Given the description of an element on the screen output the (x, y) to click on. 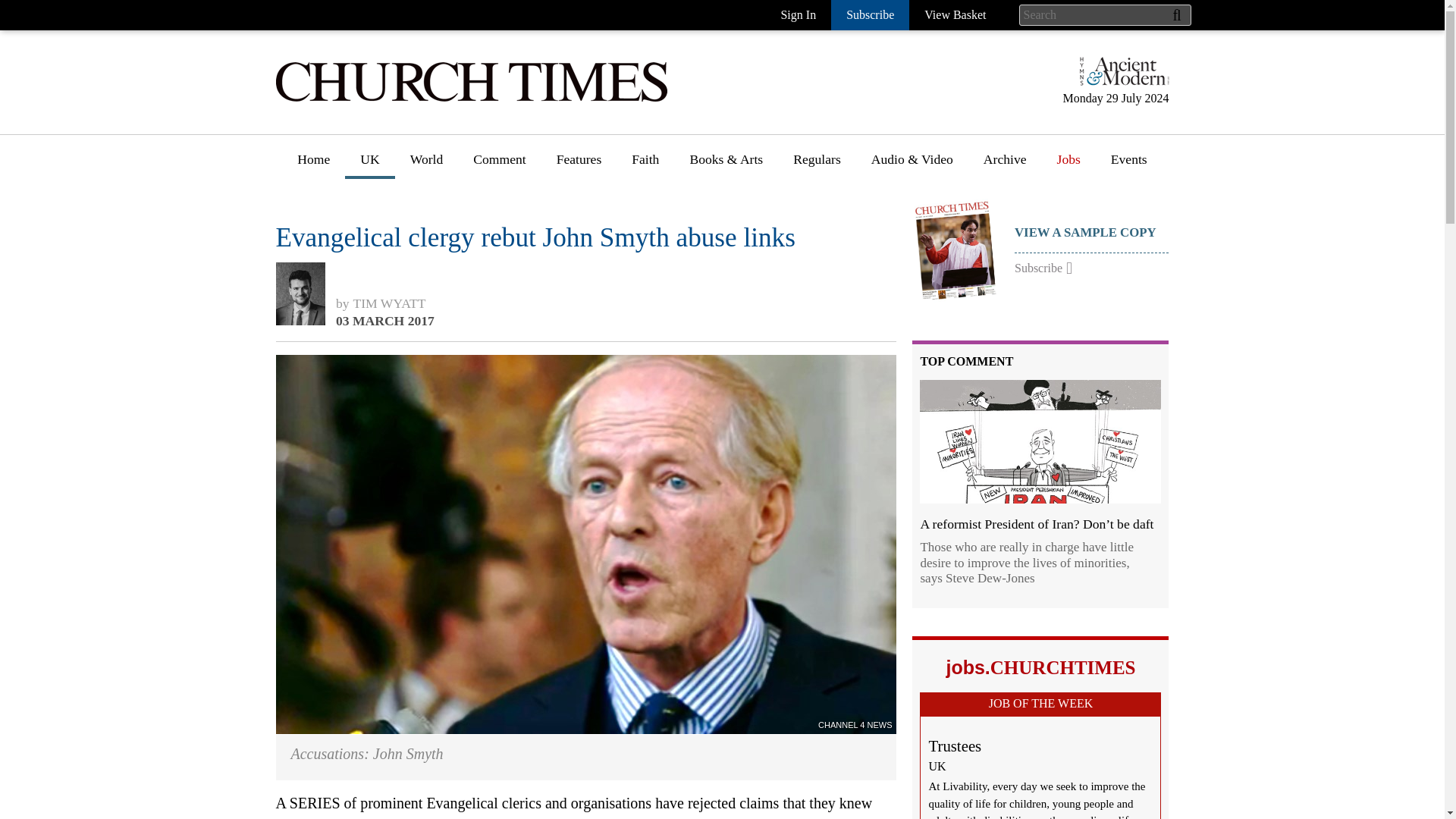
Columnists (504, 260)
Performing arts (731, 343)
Week ahead (721, 456)
Sign In (798, 15)
World (426, 164)
Subscribe (869, 15)
Book reviews (726, 204)
Letters to the editor (526, 287)
View Basket (954, 15)
Visual arts (718, 287)
Music (705, 316)
Gazette (814, 204)
Interviews (585, 232)
Faith features (668, 232)
Features (579, 164)
